Given the description of an element on the screen output the (x, y) to click on. 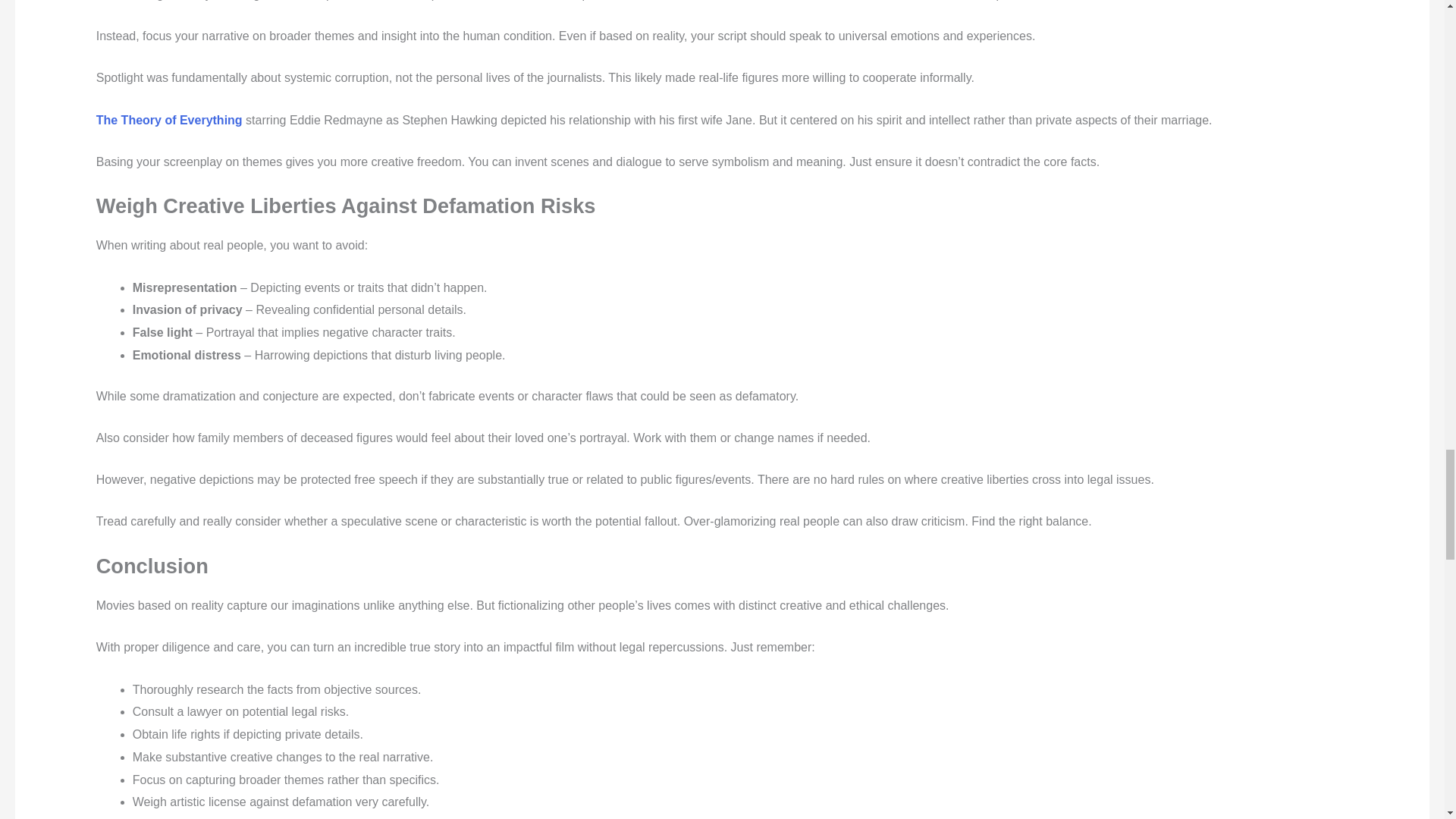
The Theory of Everything (171, 119)
